Given the description of an element on the screen output the (x, y) to click on. 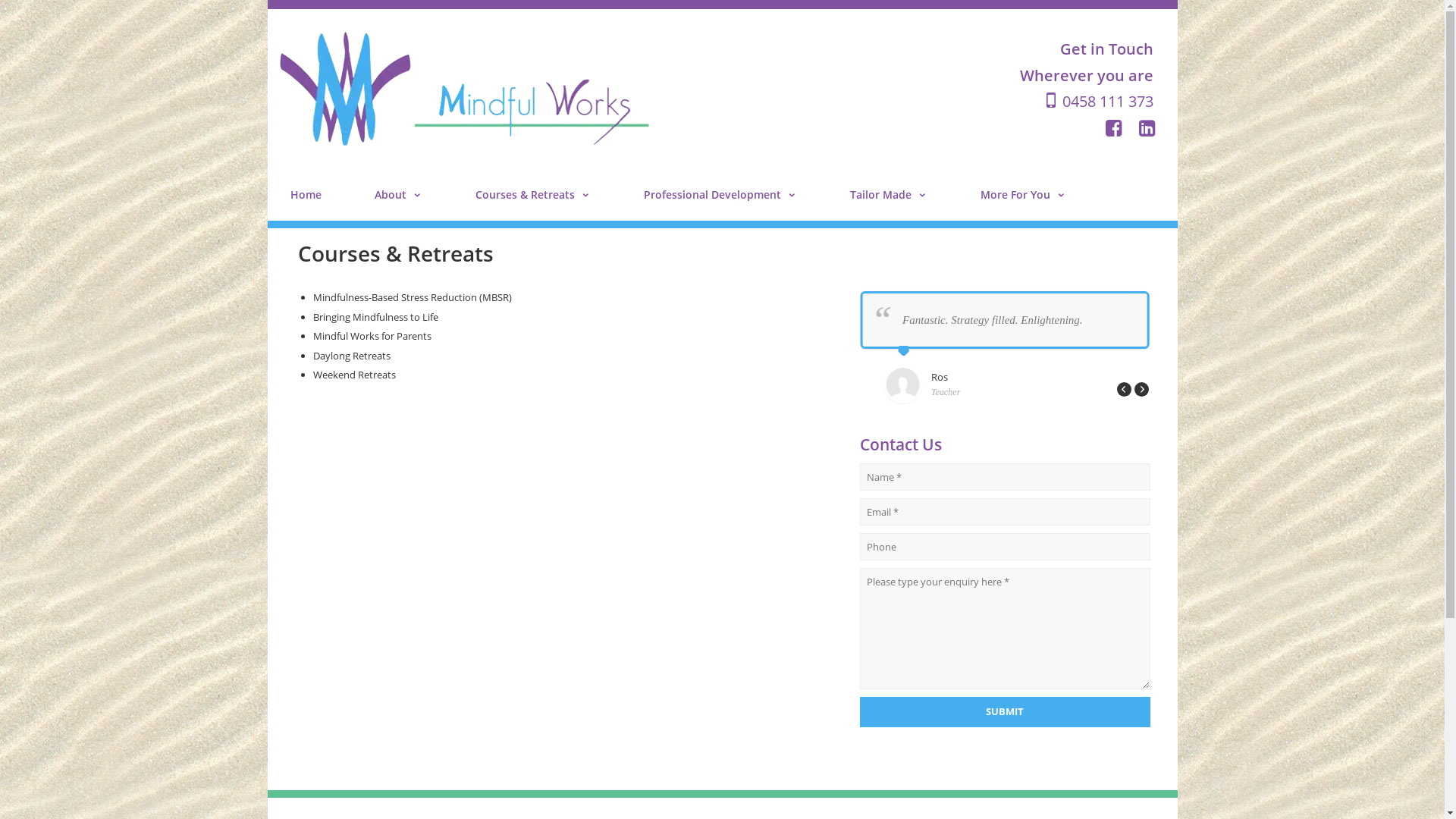
Professional Development Element type: text (719, 194)
About Element type: text (398, 194)
Weekend Retreats Element type: text (353, 374)
Submit Element type: text (1004, 711)
Get in Touch Element type: text (1106, 48)
Mindfulness-Based Stress Reduction (MBSR) Element type: text (411, 297)
Daylong Retreats Element type: text (350, 355)
Tailor Made Element type: text (887, 194)
Courses & Retreats Element type: text (532, 194)
0458 111 373 Element type: text (1098, 101)
More For You Element type: text (1022, 194)
Mindful Works for Parents Element type: text (371, 335)
Bringing Mindfulness to Life Element type: text (374, 316)
Home Element type: text (304, 194)
